Given the description of an element on the screen output the (x, y) to click on. 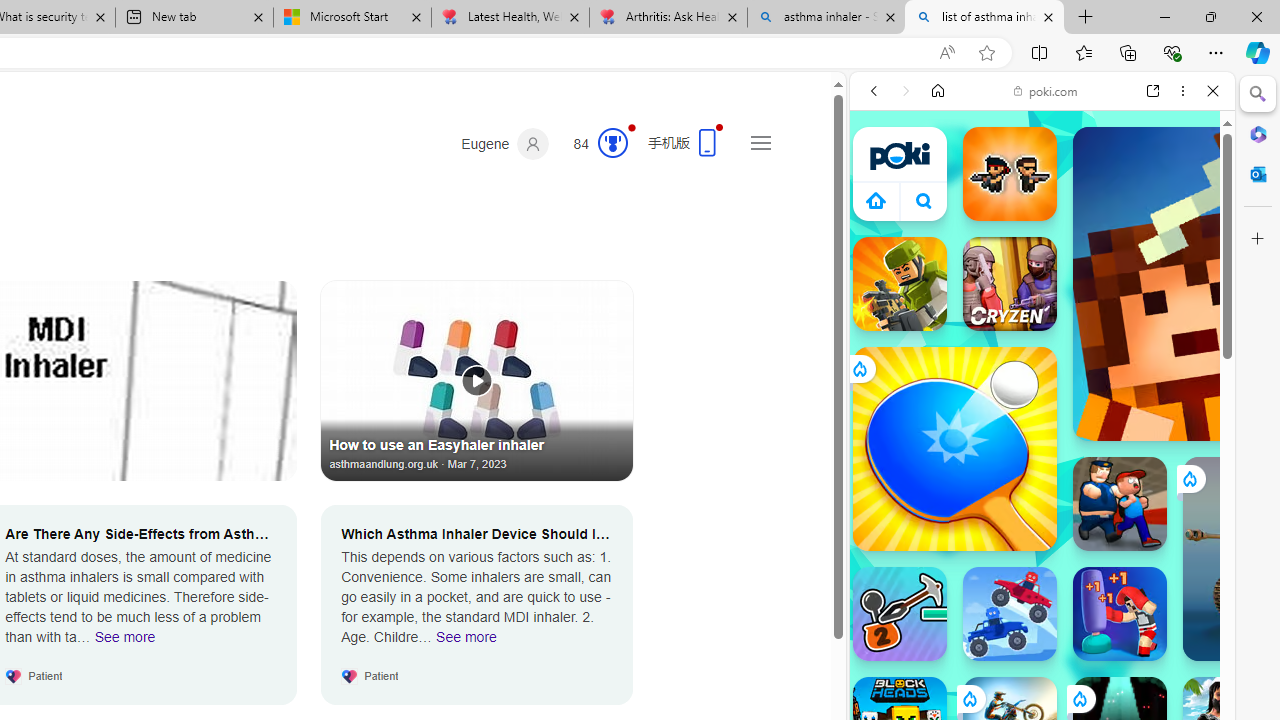
WEB   (882, 228)
Stickman Climb 2 (899, 613)
Kour.io (899, 283)
Punch Legend Simulator Punch Legend Simulator (1119, 613)
Zombie Rush (1009, 173)
Shooting Games (1042, 518)
Class: rCs5cyEiqiTpYvt_VBCR (1079, 698)
Search Filter, IMAGES (939, 228)
Zombie Rush Zombie Rush (1009, 173)
Class: b_serphb (1190, 229)
Escape From School (1119, 503)
Show More Car Games (1164, 472)
